Given the description of an element on the screen output the (x, y) to click on. 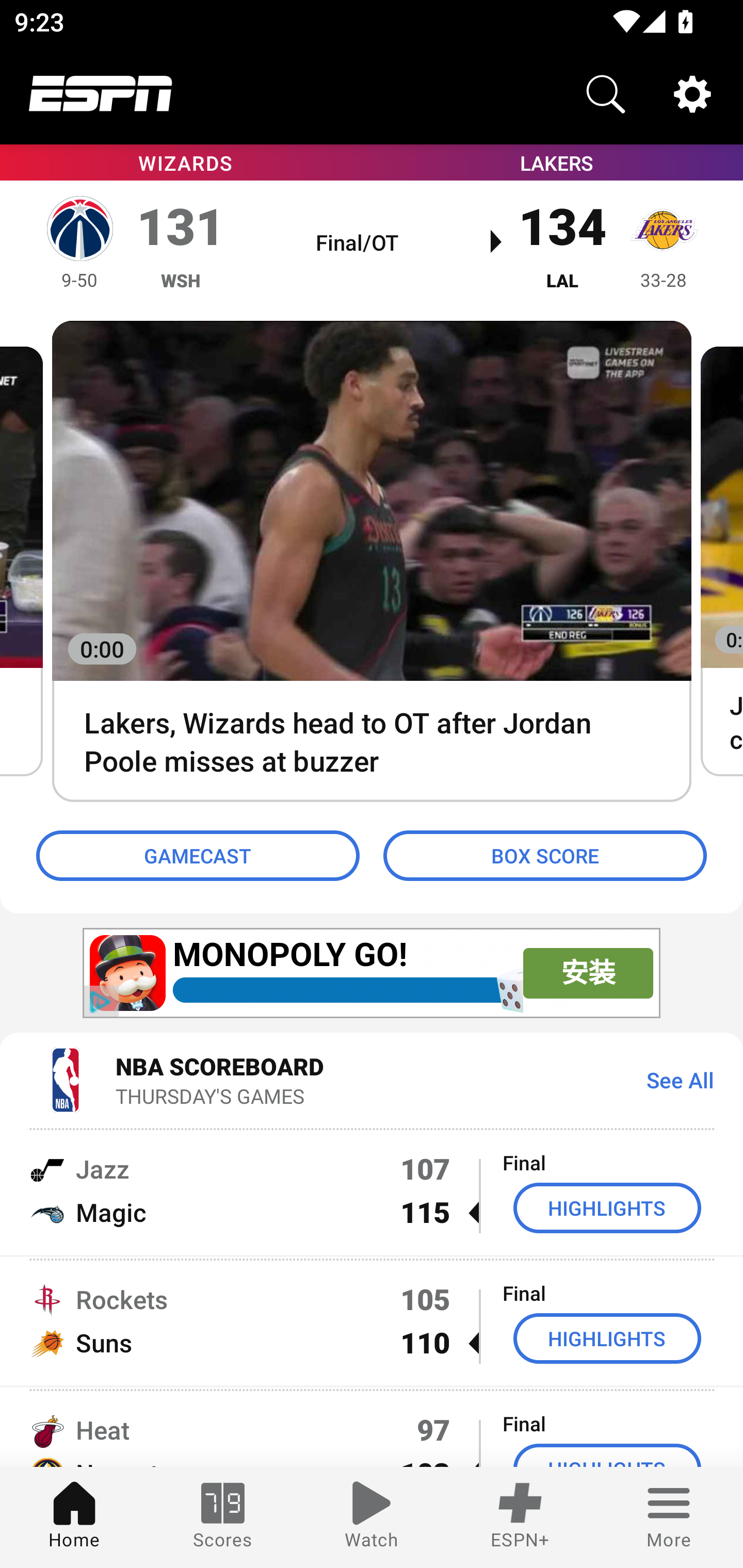
Search (605, 93)
Settings (692, 93)
GAMECAST (197, 856)
BOX SCORE (544, 856)
NBA SCOREBOARD THURSDAY'S GAMES See All (371, 1079)
Jazz 107 Final Magic 115  HIGHLIGHTS (371, 1189)
HIGHLIGHTS (607, 1208)
Rockets 105 Final Suns 110  HIGHLIGHTS (371, 1321)
HIGHLIGHTS (607, 1338)
Heat 97 Final Nuggets 103  HIGHLIGHTS (371, 1427)
Scores (222, 1517)
Watch (371, 1517)
ESPN+ (519, 1517)
More (668, 1517)
